Given the description of an element on the screen output the (x, y) to click on. 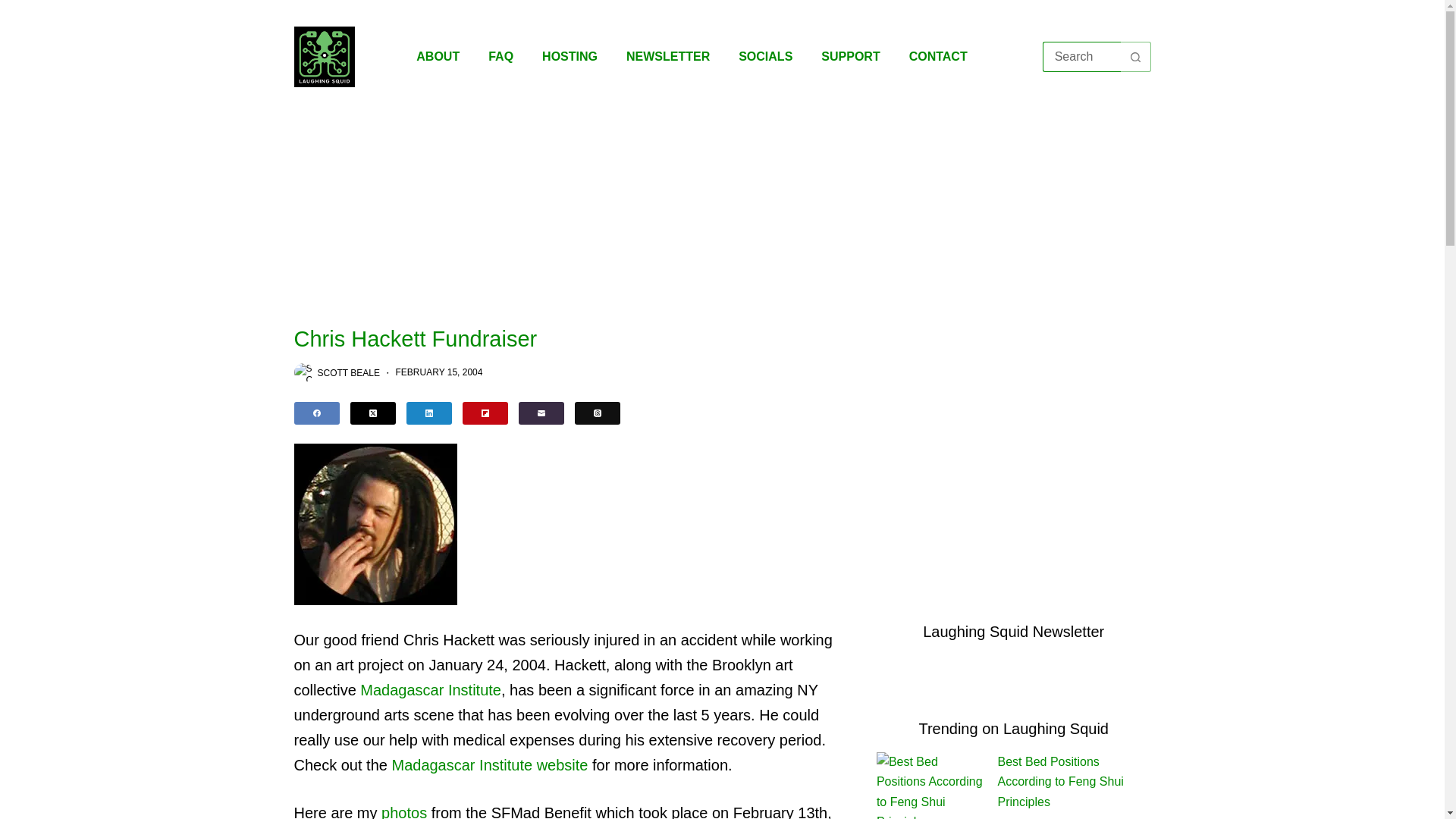
photos (403, 811)
Madagascar Institute (429, 689)
Madagascar Institute website (489, 764)
Skip to content (15, 7)
Search for... (1081, 56)
SCOTT BEALE (347, 371)
Posts by Scott Beale (347, 371)
NEWSLETTER (667, 56)
Chris Hackett Fundraiser (572, 338)
